Given the description of an element on the screen output the (x, y) to click on. 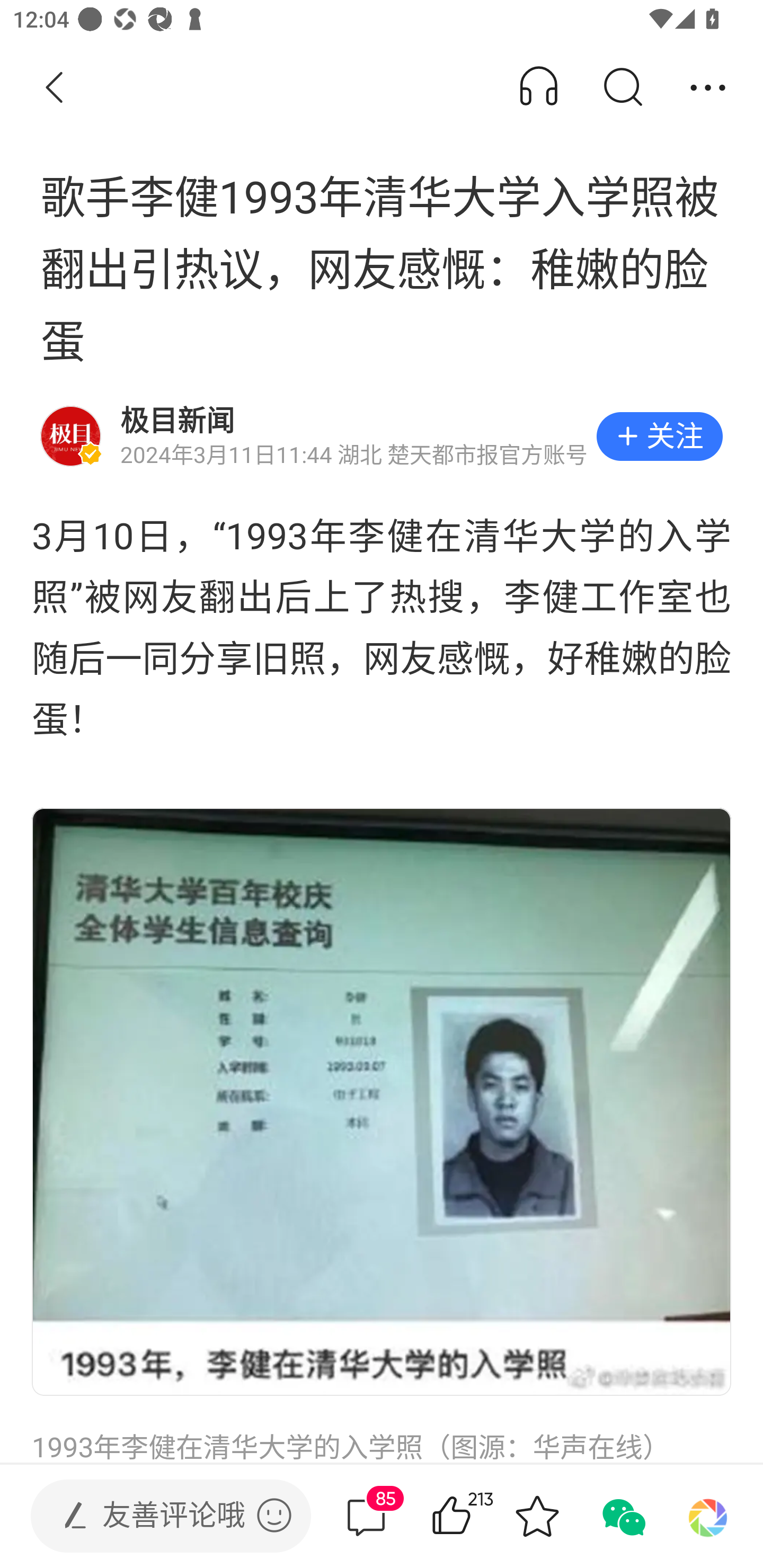
搜索  (622, 87)
分享  (707, 87)
 返回 (54, 87)
极目新闻 2024年3月11日11:44 湖北 楚天都市报官方账号  关注 (381, 436)
 关注 (659, 436)
新闻图片 (381, 1101)
发表评论  友善评论哦 发表评论  (155, 1516)
85评论  85 评论 (365, 1516)
213赞 (476, 1516)
收藏  (536, 1516)
分享到微信  (622, 1516)
分享到朋友圈 (707, 1516)
 (274, 1515)
